Given the description of an element on the screen output the (x, y) to click on. 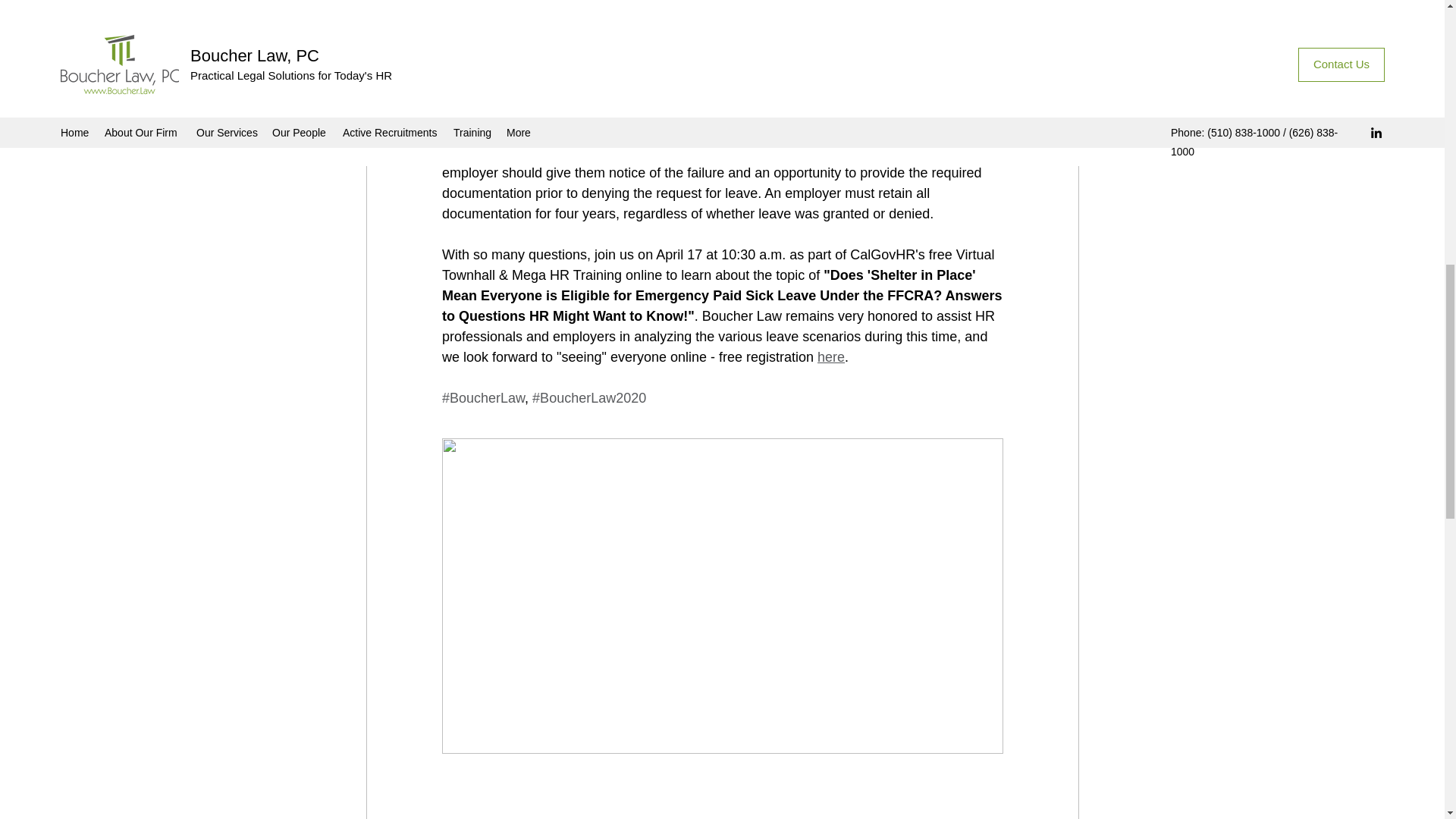
here (830, 356)
